Given the description of an element on the screen output the (x, y) to click on. 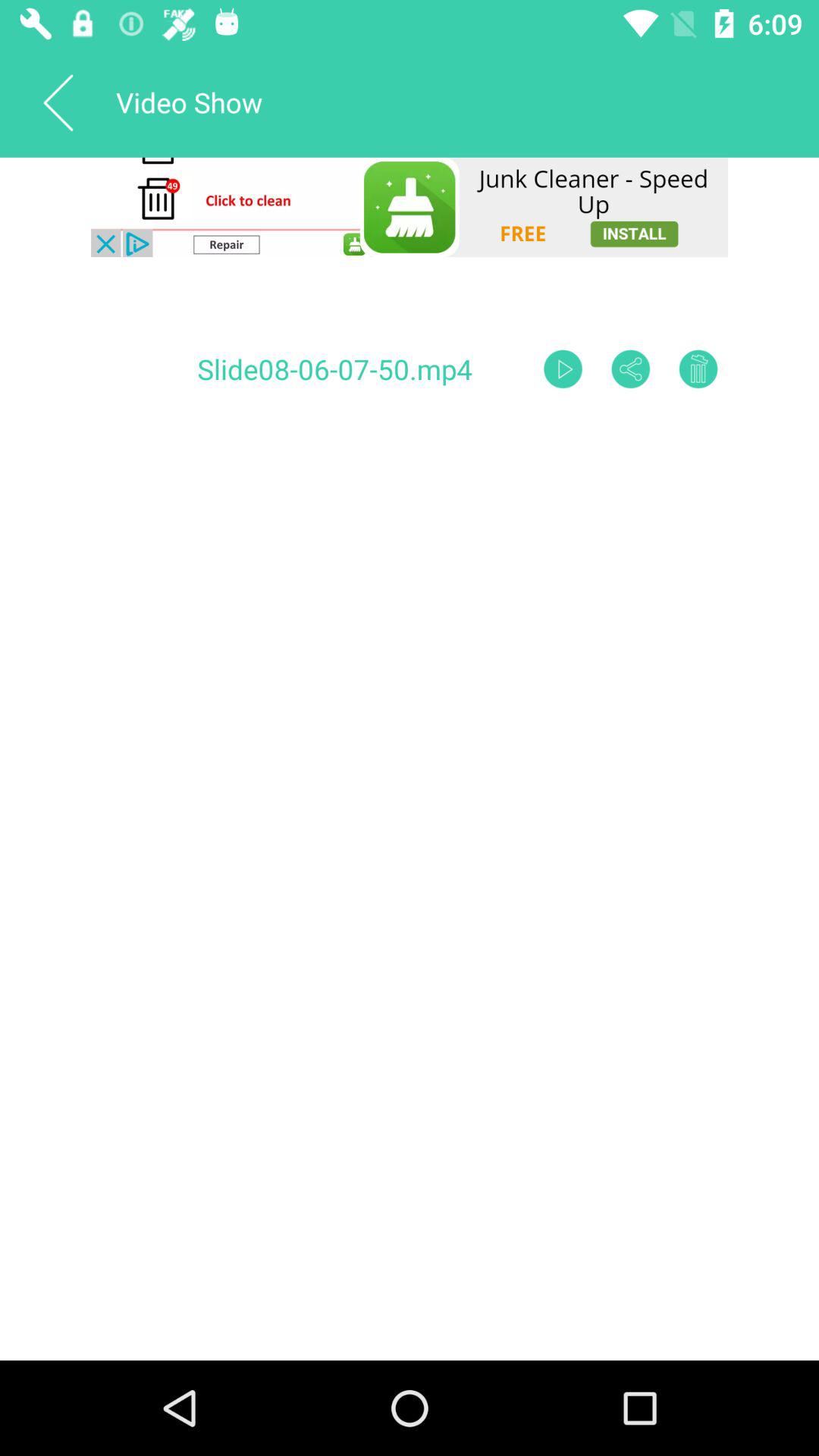
delete file (698, 369)
